Given the description of an element on the screen output the (x, y) to click on. 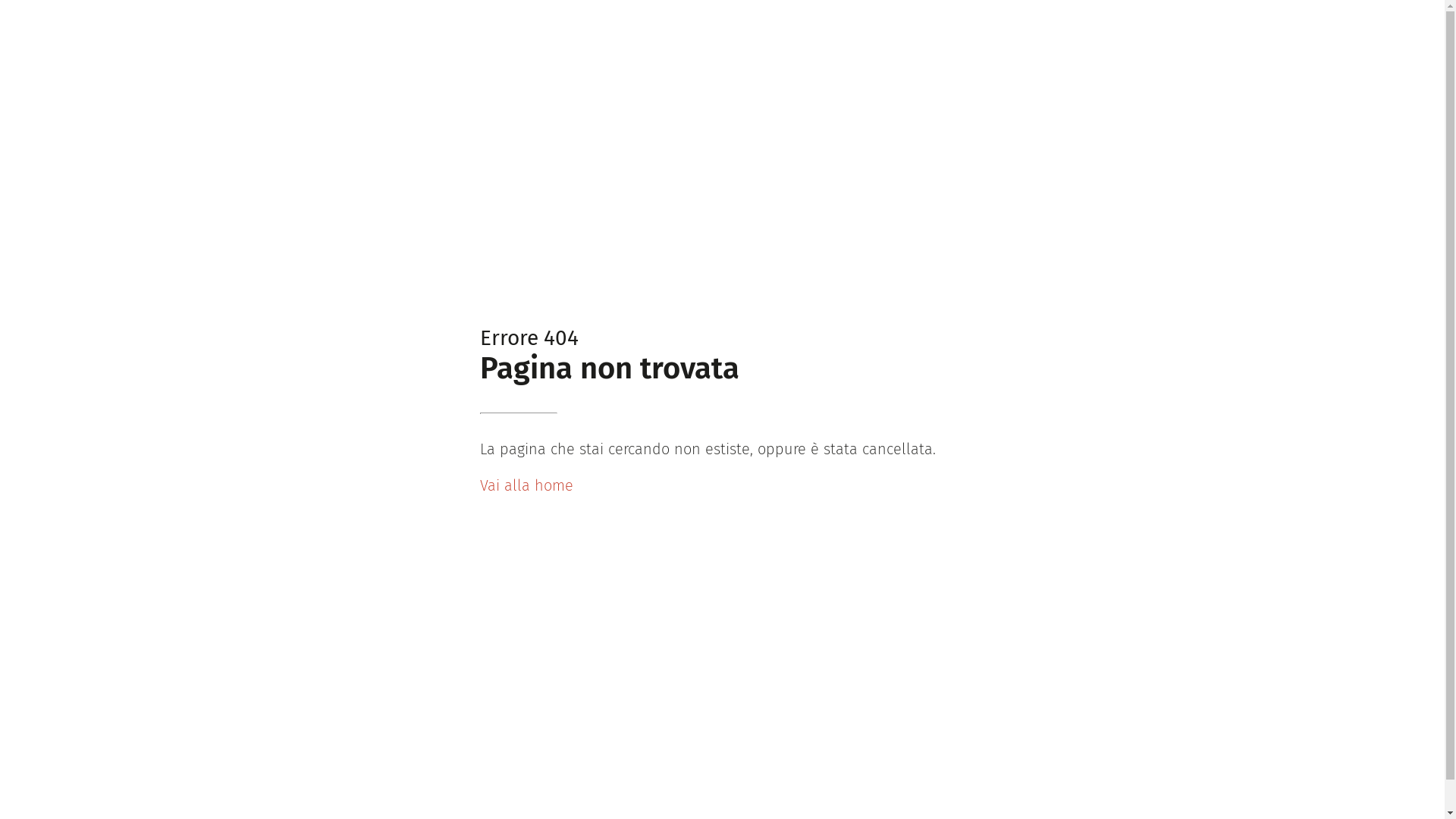
Vai alla home Element type: text (525, 485)
